Given the description of an element on the screen output the (x, y) to click on. 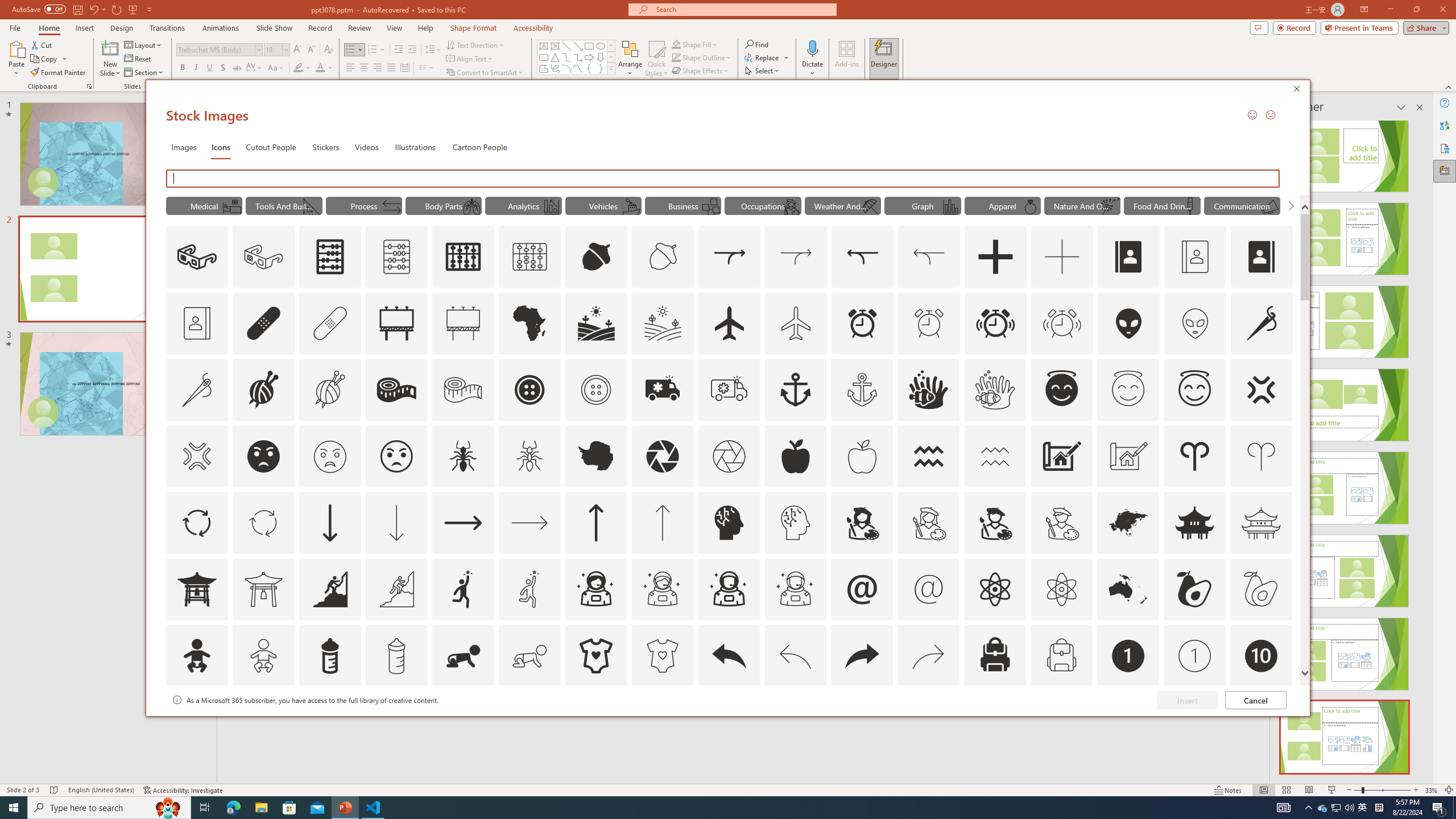
AutomationID: Icons_AngelFace (1061, 389)
AutomationID: Icons_AlterationsTailoring (1261, 323)
Next Search Suggestion (1290, 205)
AutomationID: Icons_AlterationsTailoring2 (395, 389)
Search Icons (723, 178)
AutomationID: Icons_ArtistFemale (861, 522)
